Given the description of an element on the screen output the (x, y) to click on. 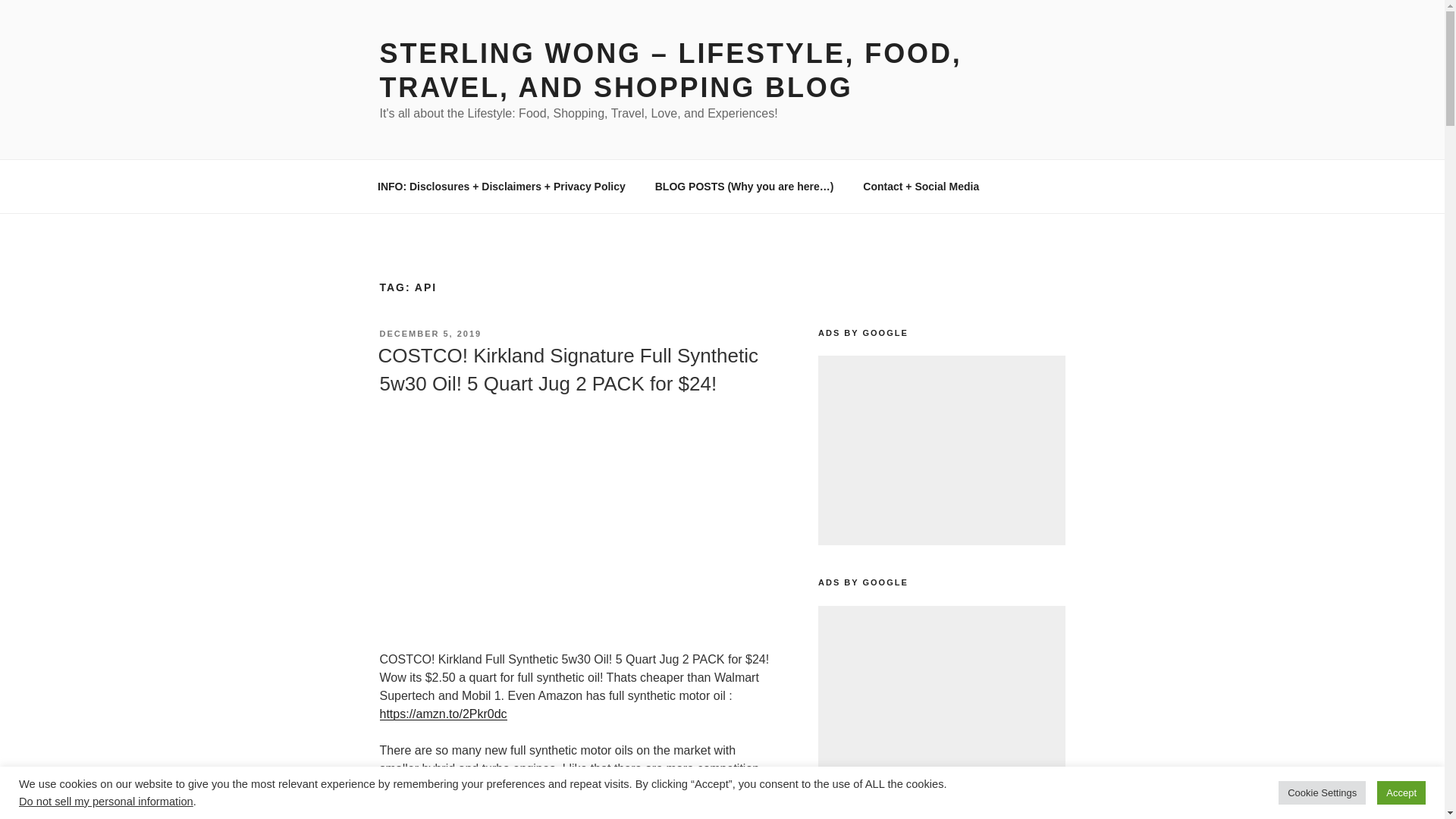
DECEMBER 5, 2019 (429, 333)
Advertisement (941, 450)
Advertisement (941, 700)
